Given the description of an element on the screen output the (x, y) to click on. 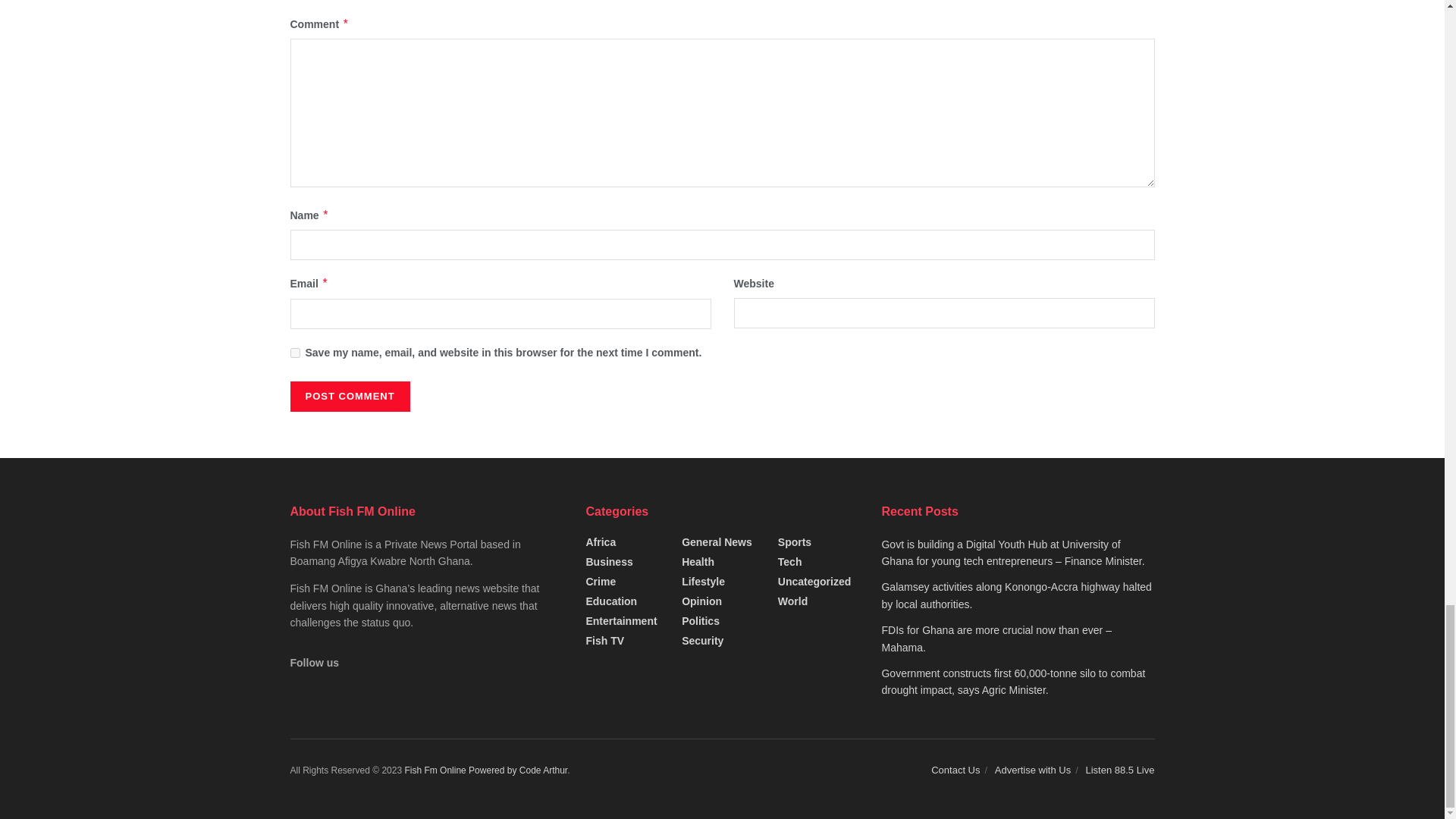
Fish Fm Online (436, 769)
Post Comment (349, 396)
yes (294, 352)
